Given the description of an element on the screen output the (x, y) to click on. 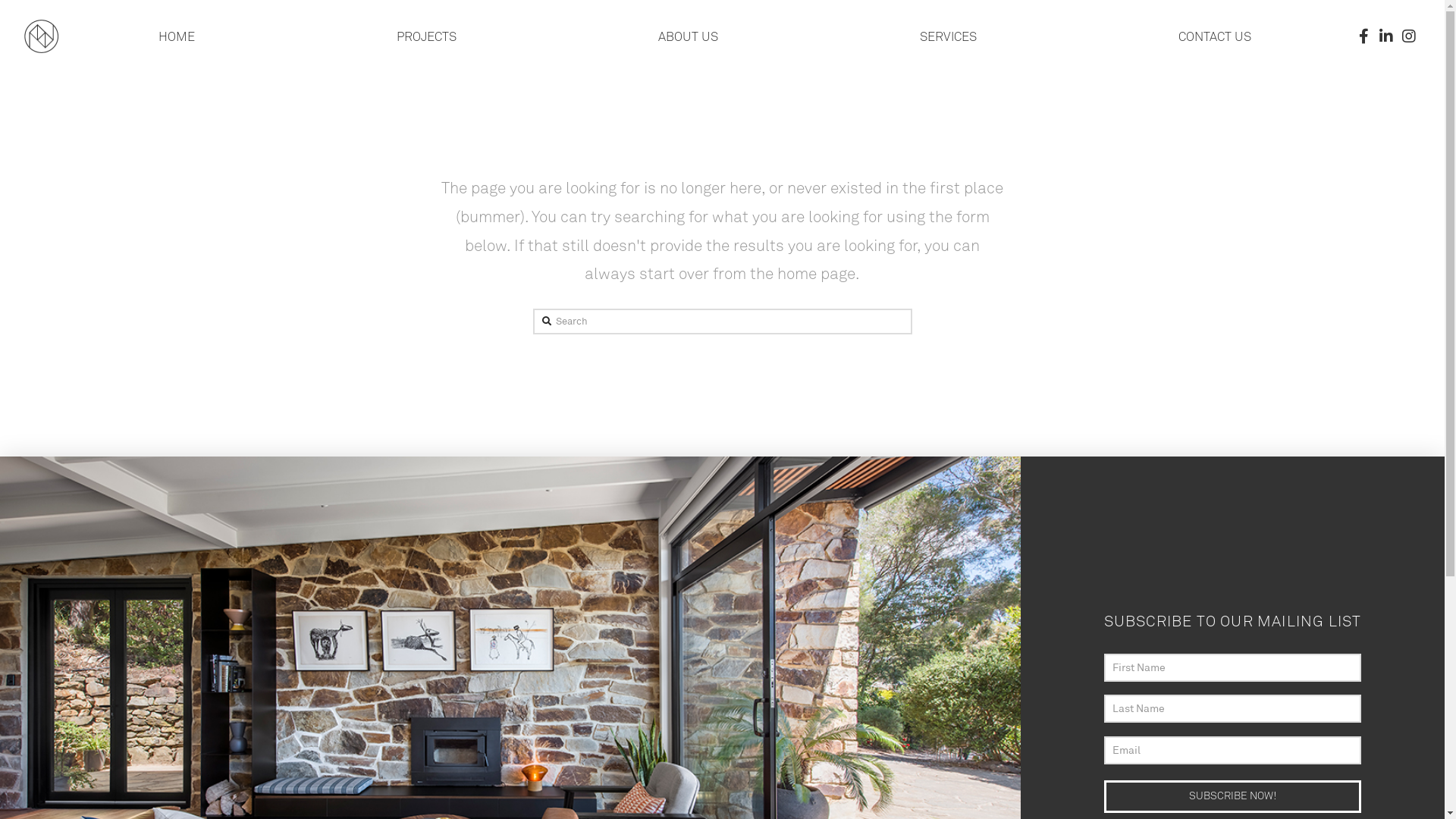
PROJECTS Element type: text (426, 36)
CONTACT US Element type: text (1214, 36)
SERVICES Element type: text (947, 36)
ABOUT US Element type: text (688, 36)
HOME Element type: text (176, 36)
Subscribe Now! Element type: text (1232, 796)
